Given the description of an element on the screen output the (x, y) to click on. 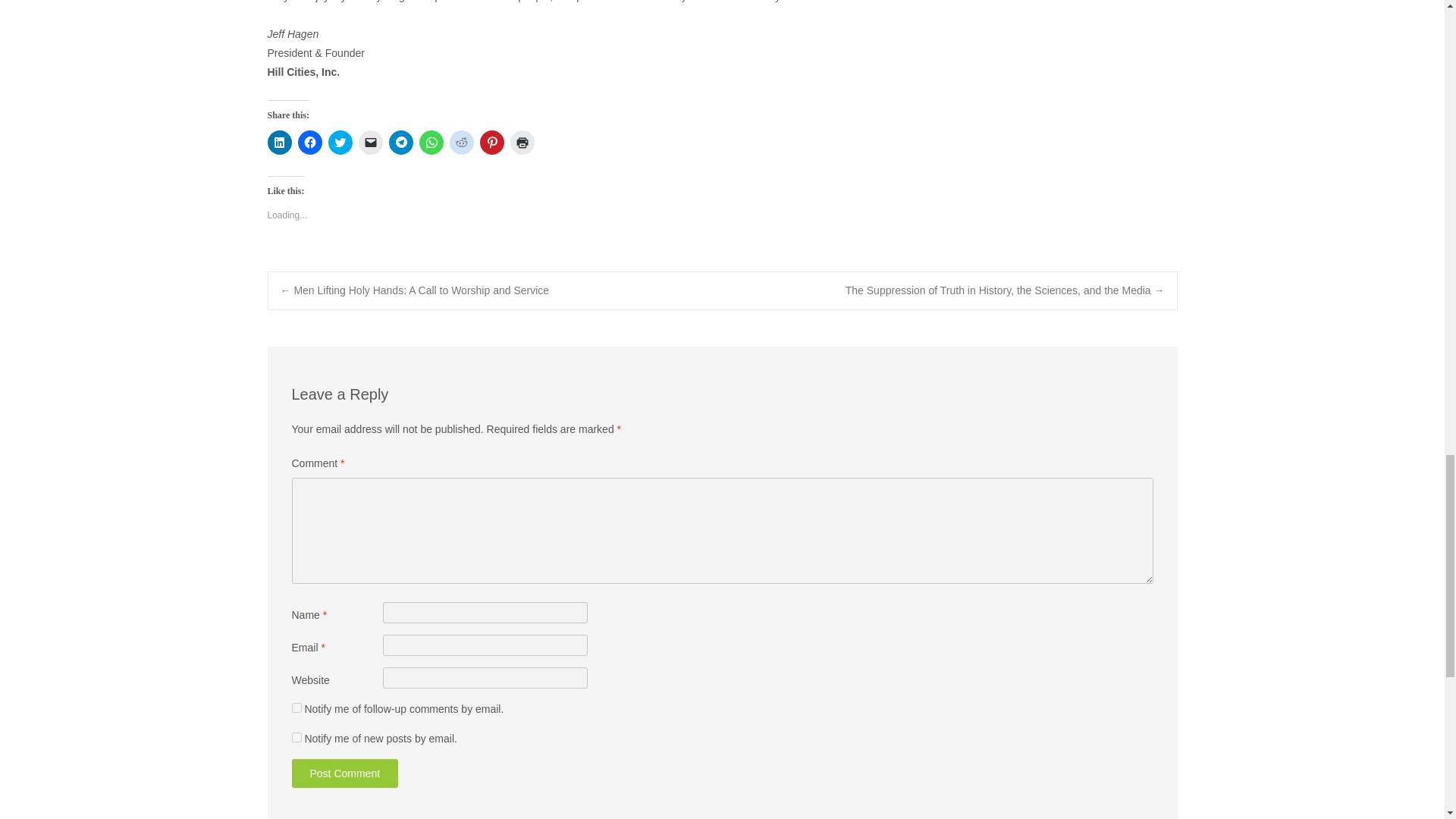
Click to share on Pinterest (491, 142)
Click to share on WhatsApp (430, 142)
subscribe (296, 737)
Click to share on LinkedIn (278, 142)
Click to share on Telegram (400, 142)
Click to share on Reddit (460, 142)
Click to share on Facebook (309, 142)
Click to email a link to a friend (369, 142)
Click to share on Twitter (339, 142)
Post Comment (344, 773)
